Given the description of an element on the screen output the (x, y) to click on. 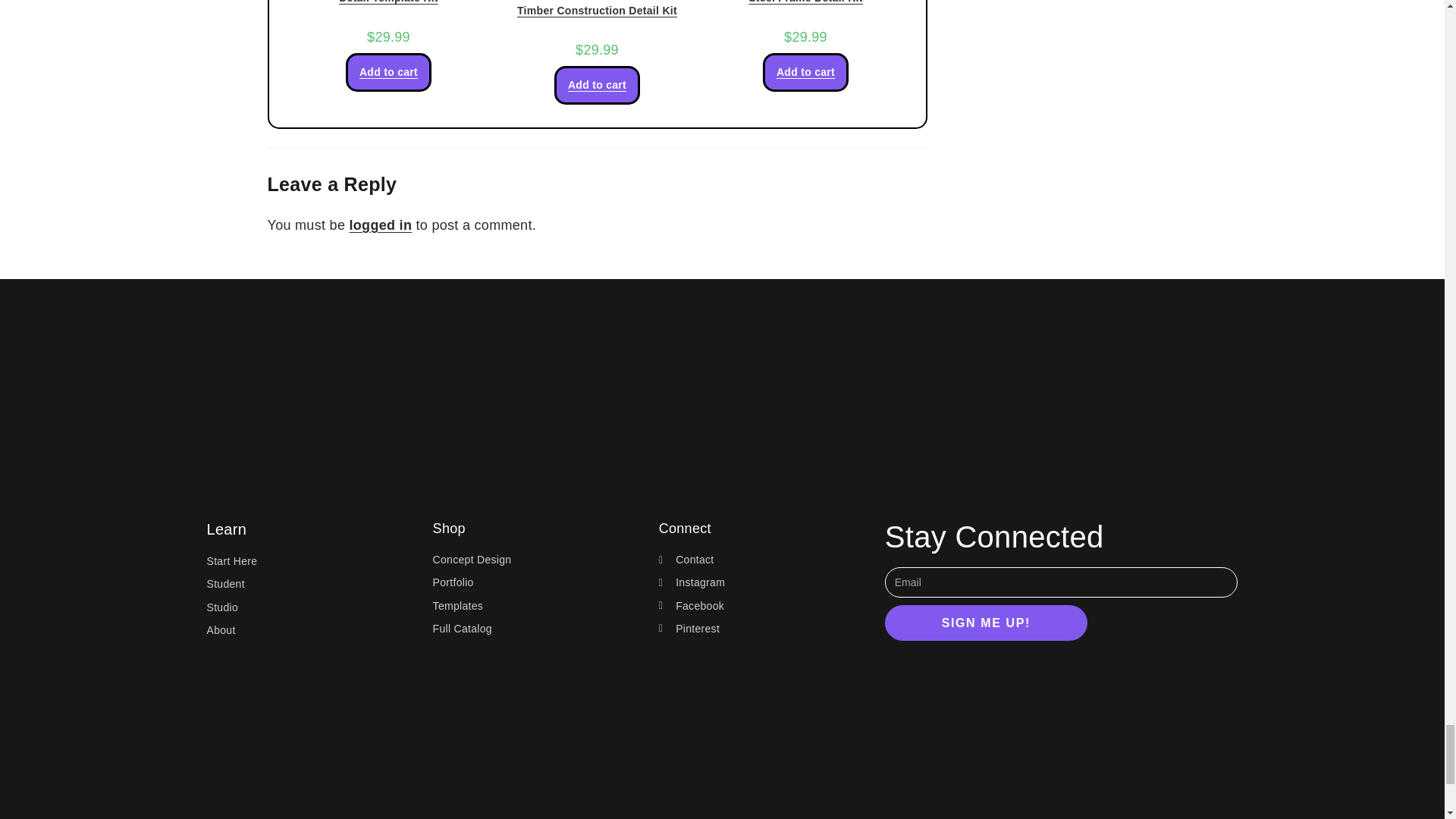
Add to cart (597, 85)
Timber Construction Detail Kit (596, 10)
Add to cart (805, 72)
Detail Template Kit (388, 2)
Steel Frame Detail Kit (805, 2)
Add to cart (388, 72)
